Given the description of an element on the screen output the (x, y) to click on. 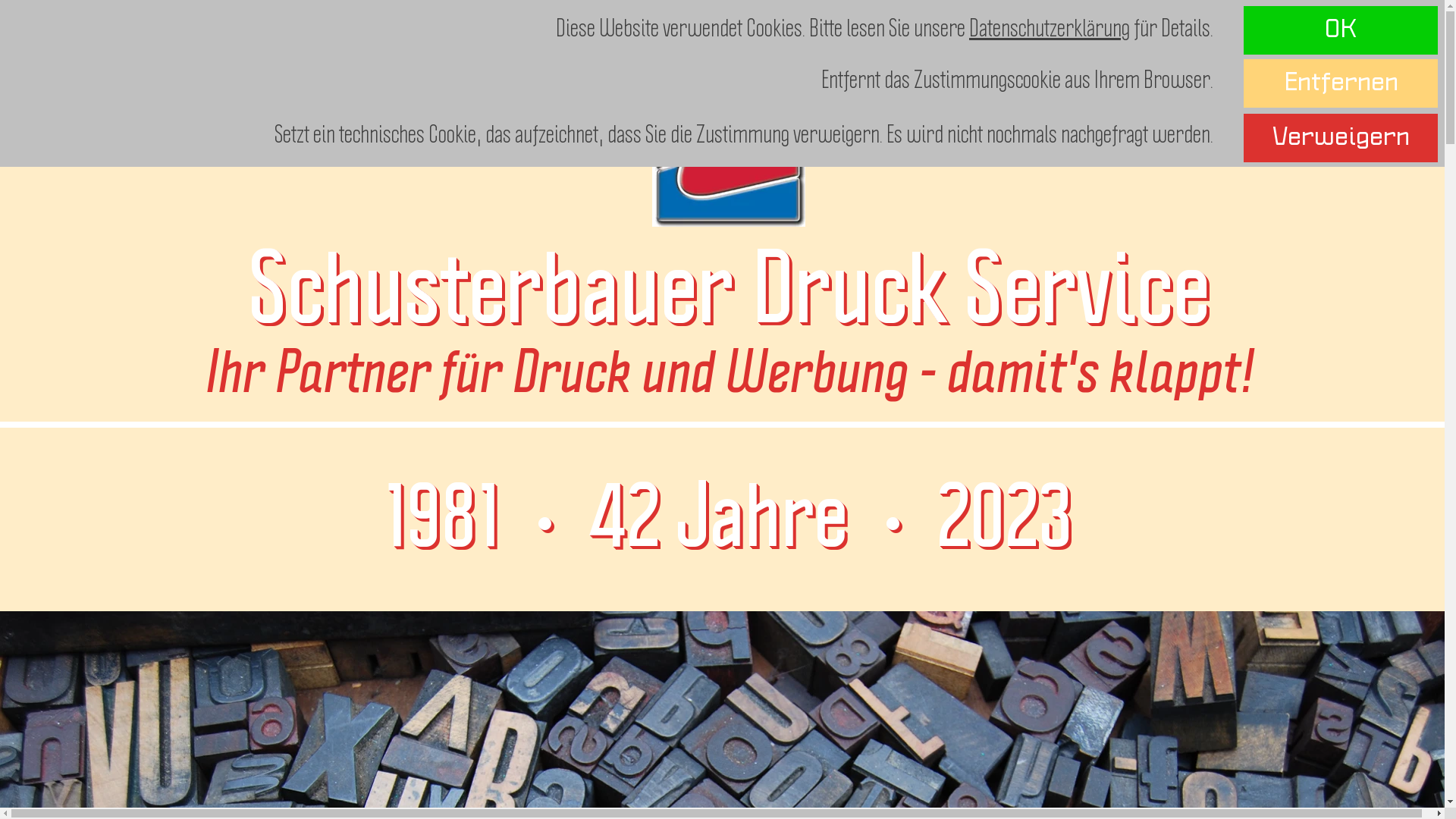
Entfernen Element type: text (1340, 83)
Verweigern Element type: text (1340, 137)
OK Element type: text (1340, 30)
